Given the description of an element on the screen output the (x, y) to click on. 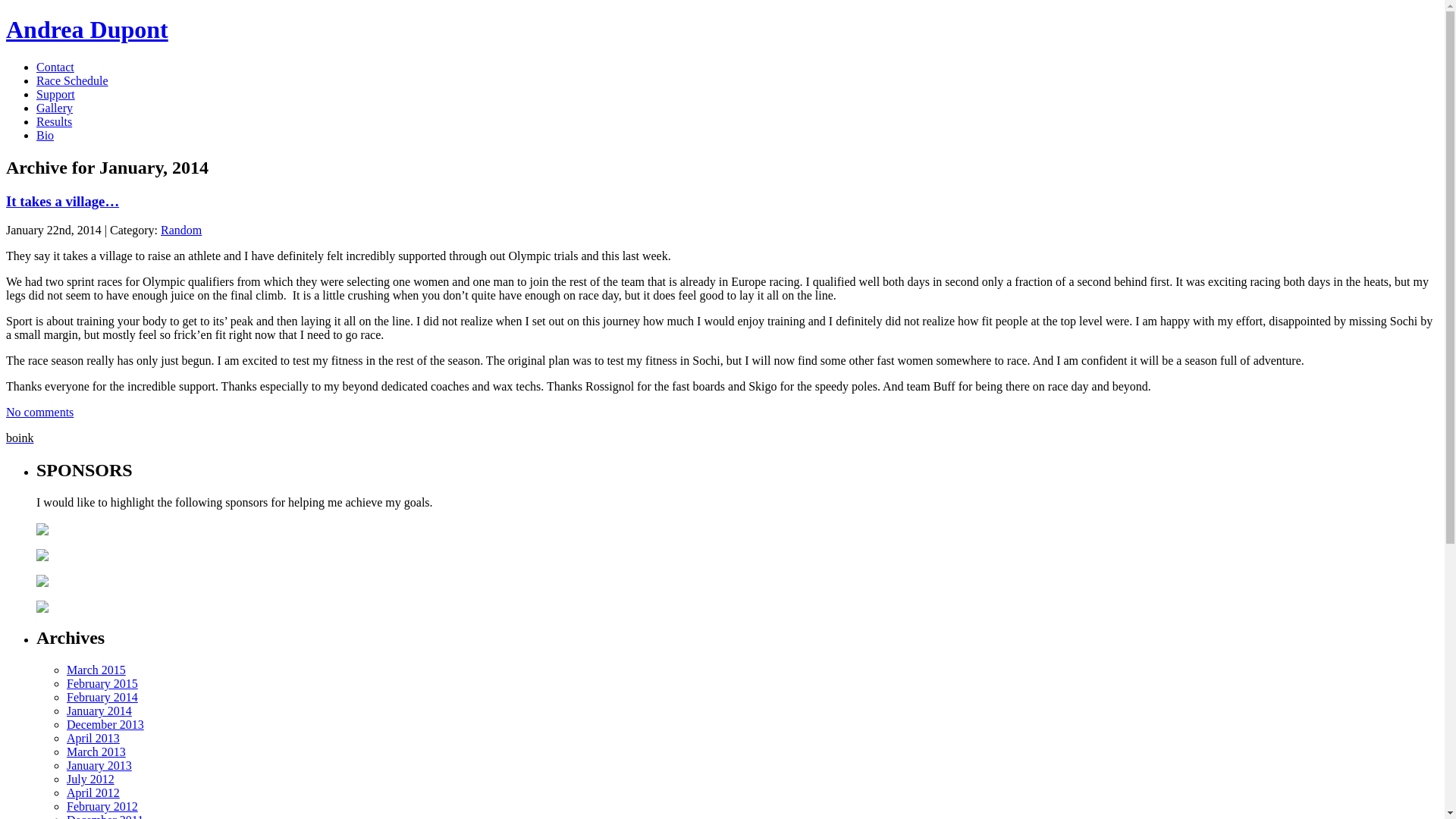
Bio Element type: text (44, 134)
Random Element type: text (180, 229)
Results Element type: text (54, 121)
Race Schedule Element type: text (72, 80)
April 2013 Element type: text (92, 737)
December 2013 Element type: text (105, 724)
Gallery Element type: text (54, 107)
January 2013 Element type: text (98, 765)
April 2012 Element type: text (92, 792)
Contact Element type: text (55, 66)
March 2015 Element type: text (95, 669)
January 2014 Element type: text (98, 710)
March 2013 Element type: text (95, 751)
Andrea Dupont Element type: text (87, 29)
boink Element type: text (19, 437)
July 2012 Element type: text (90, 778)
February 2012 Element type: text (102, 806)
Support Element type: text (55, 93)
February 2015 Element type: text (102, 683)
February 2014 Element type: text (102, 696)
No comments Element type: text (39, 411)
